Given the description of an element on the screen output the (x, y) to click on. 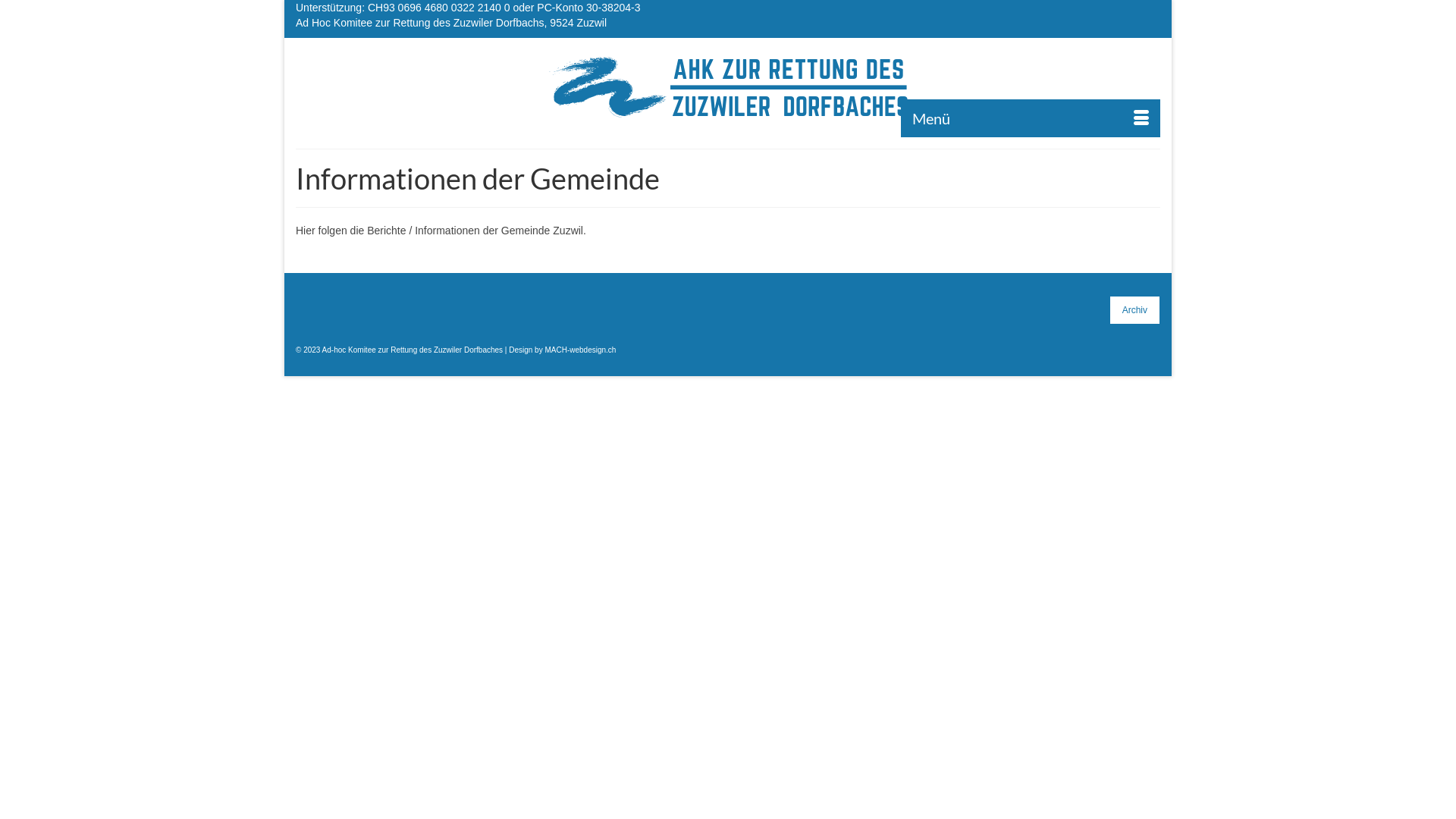
MACH-webdesign.ch Element type: text (579, 349)
Archiv Element type: text (1134, 309)
Ad-hoc Komitee zur Rettung des Zuzwiler Dorfbaches Element type: hover (727, 86)
